Given the description of an element on the screen output the (x, y) to click on. 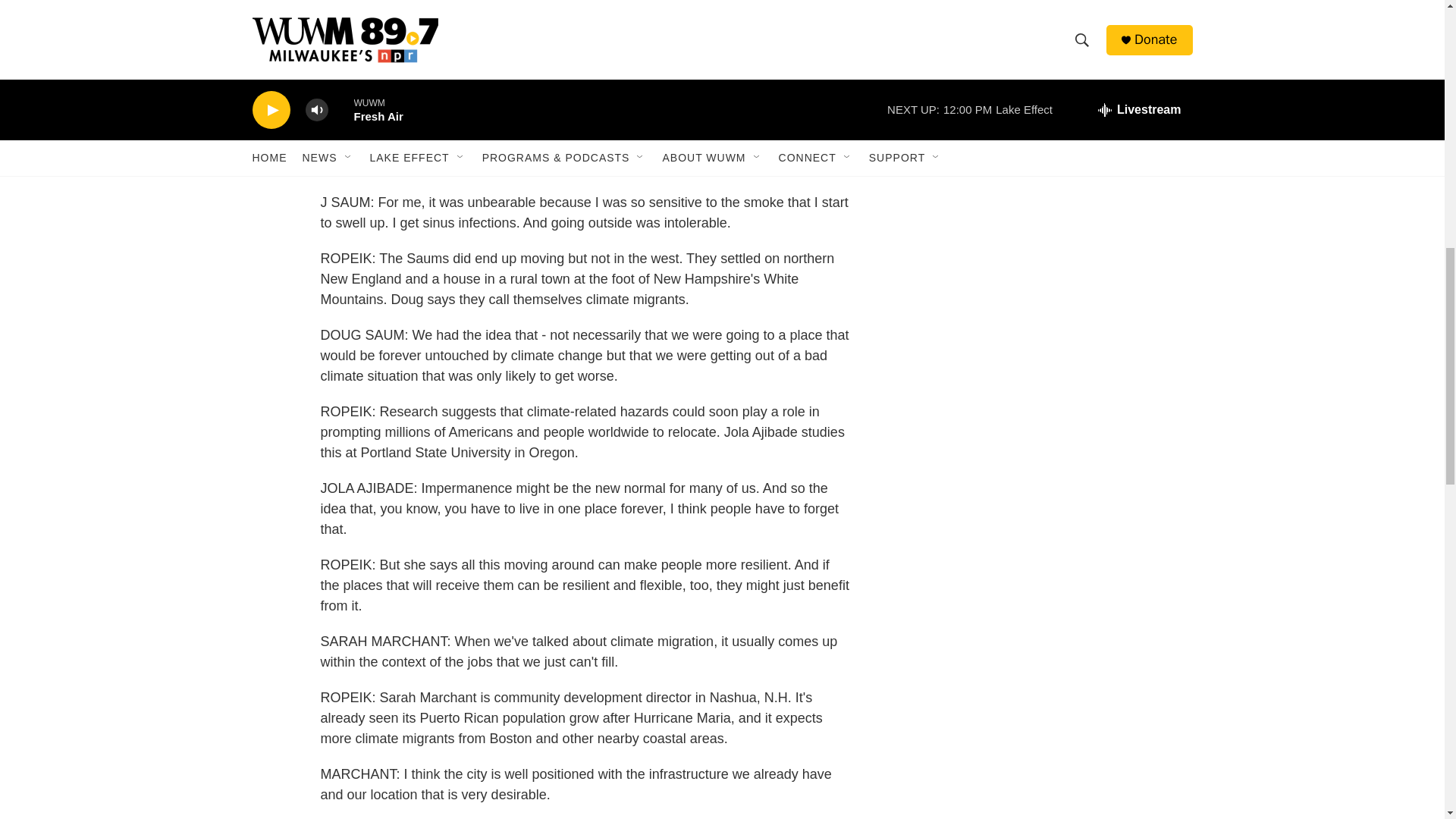
3rd party ad content (1062, 61)
